Given the description of an element on the screen output the (x, y) to click on. 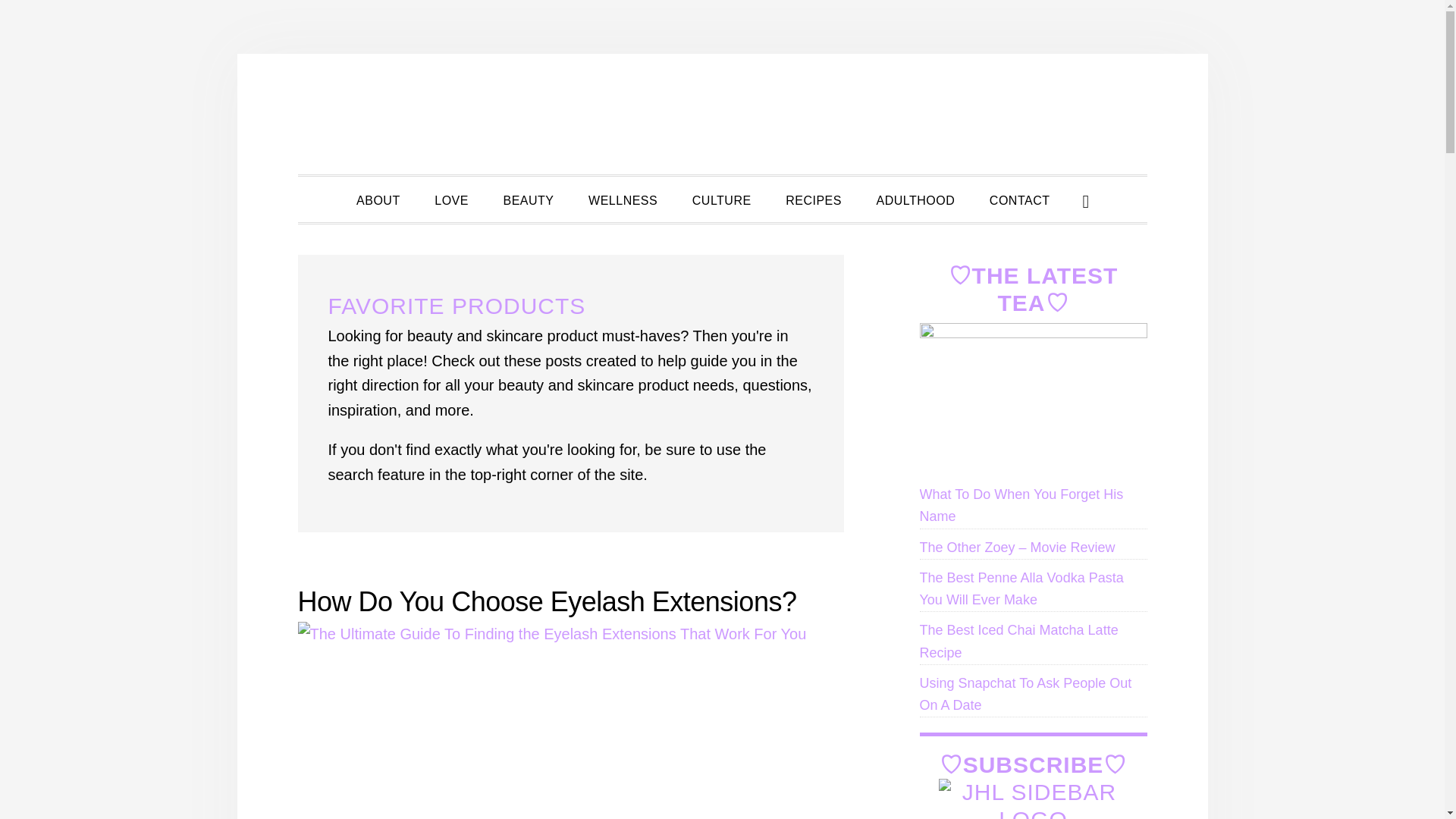
WELLNESS (622, 198)
CONTACT (1019, 198)
LOVE (451, 198)
RECIPES (813, 198)
CULTURE (722, 198)
BEAUTY (528, 198)
ABOUT (377, 198)
JENNA HAITH LIFESTYLE (721, 113)
ADULTHOOD (916, 198)
